Given the description of an element on the screen output the (x, y) to click on. 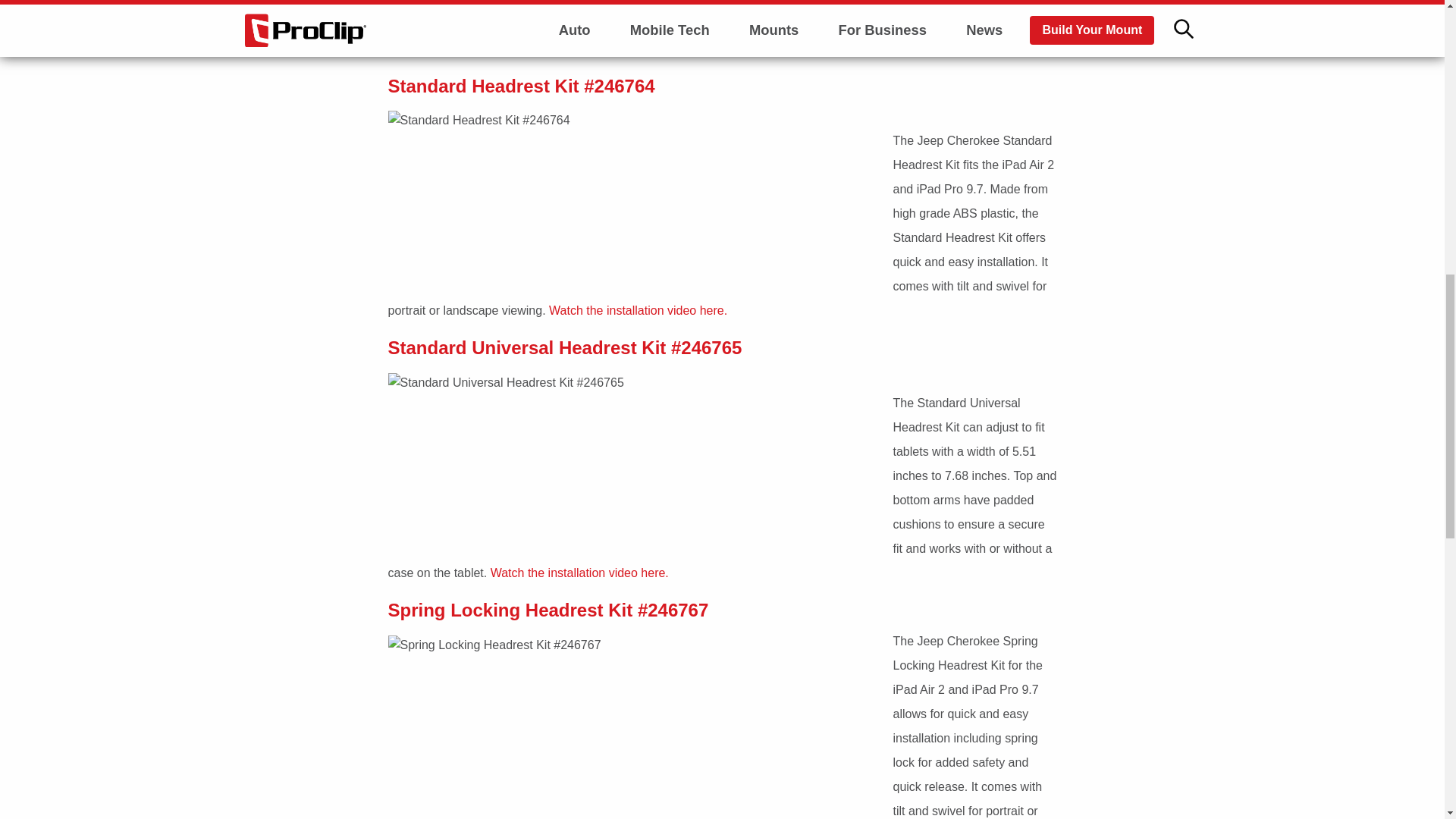
headrest solutions will fit all other FCA vehicles (713, 36)
